Given the description of an element on the screen output the (x, y) to click on. 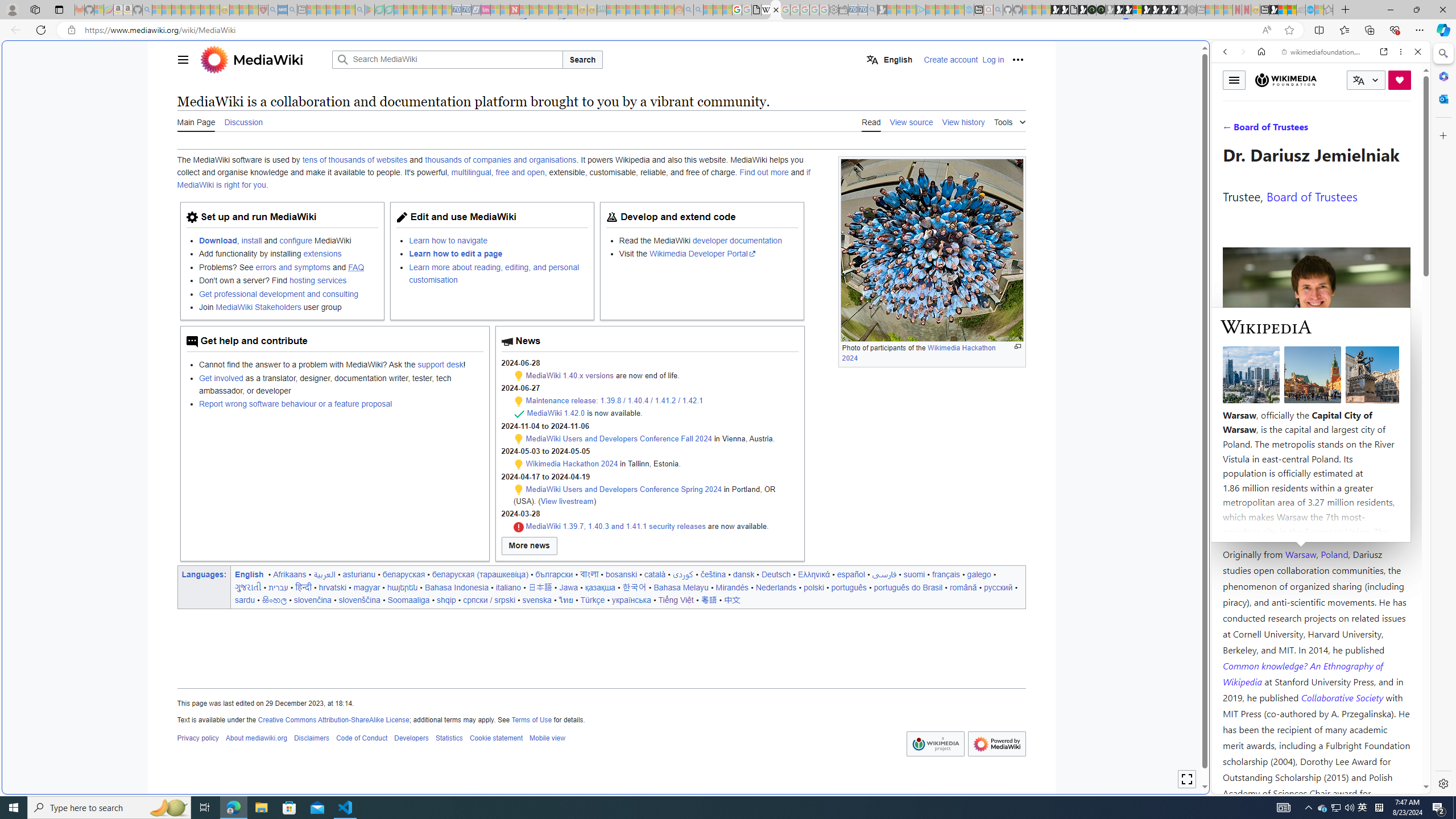
Wikimedia Foundation (1286, 79)
Download, install and configure MediaWiki (288, 239)
free and open (519, 172)
MediaWiki (262, 59)
Discussion (243, 120)
Tabs you've opened (885, 151)
MediaWiki (774, 9)
